Given the description of an element on the screen output the (x, y) to click on. 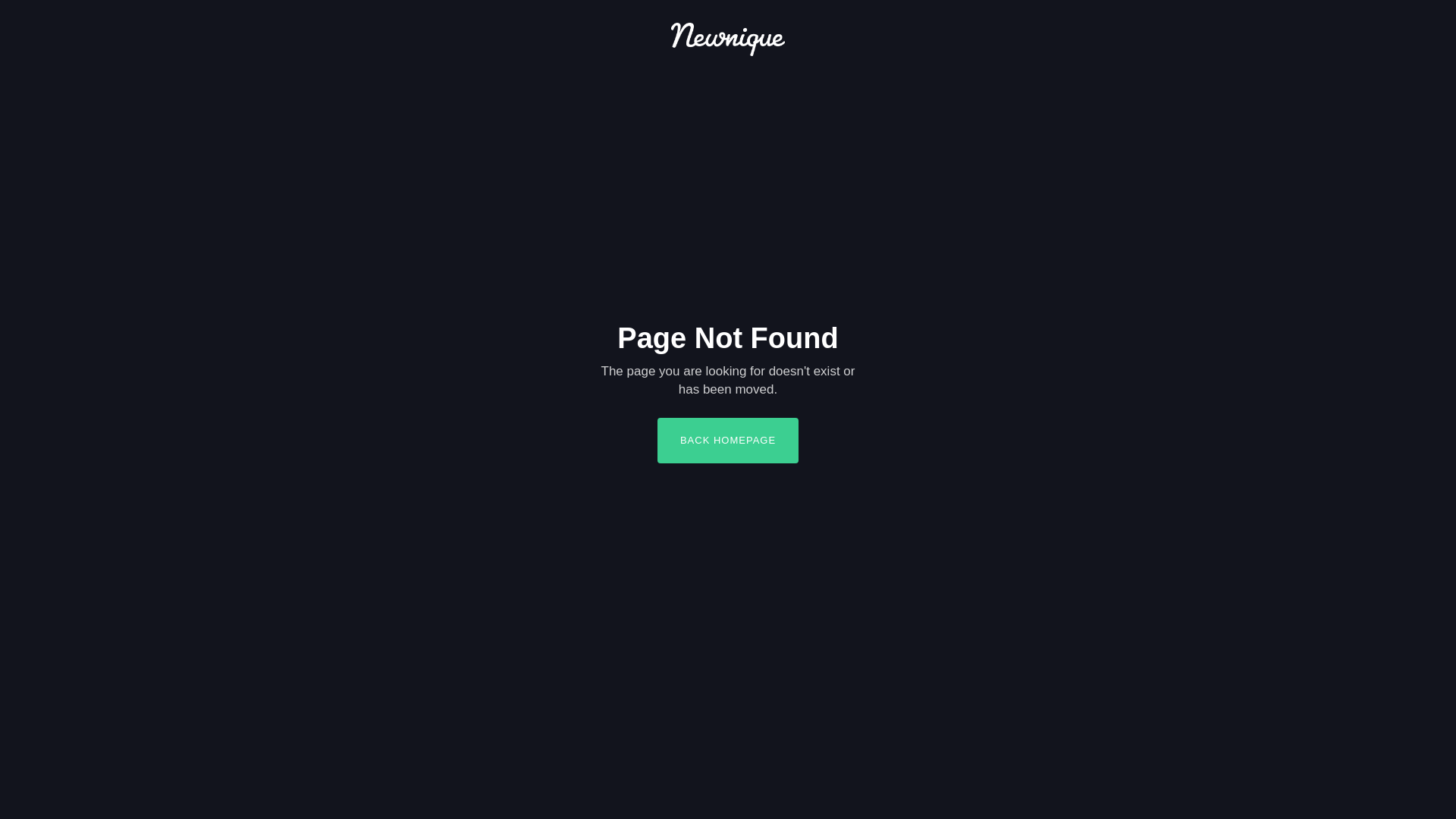
BACK HOMEPAGE Element type: text (727, 440)
